Given the description of an element on the screen output the (x, y) to click on. 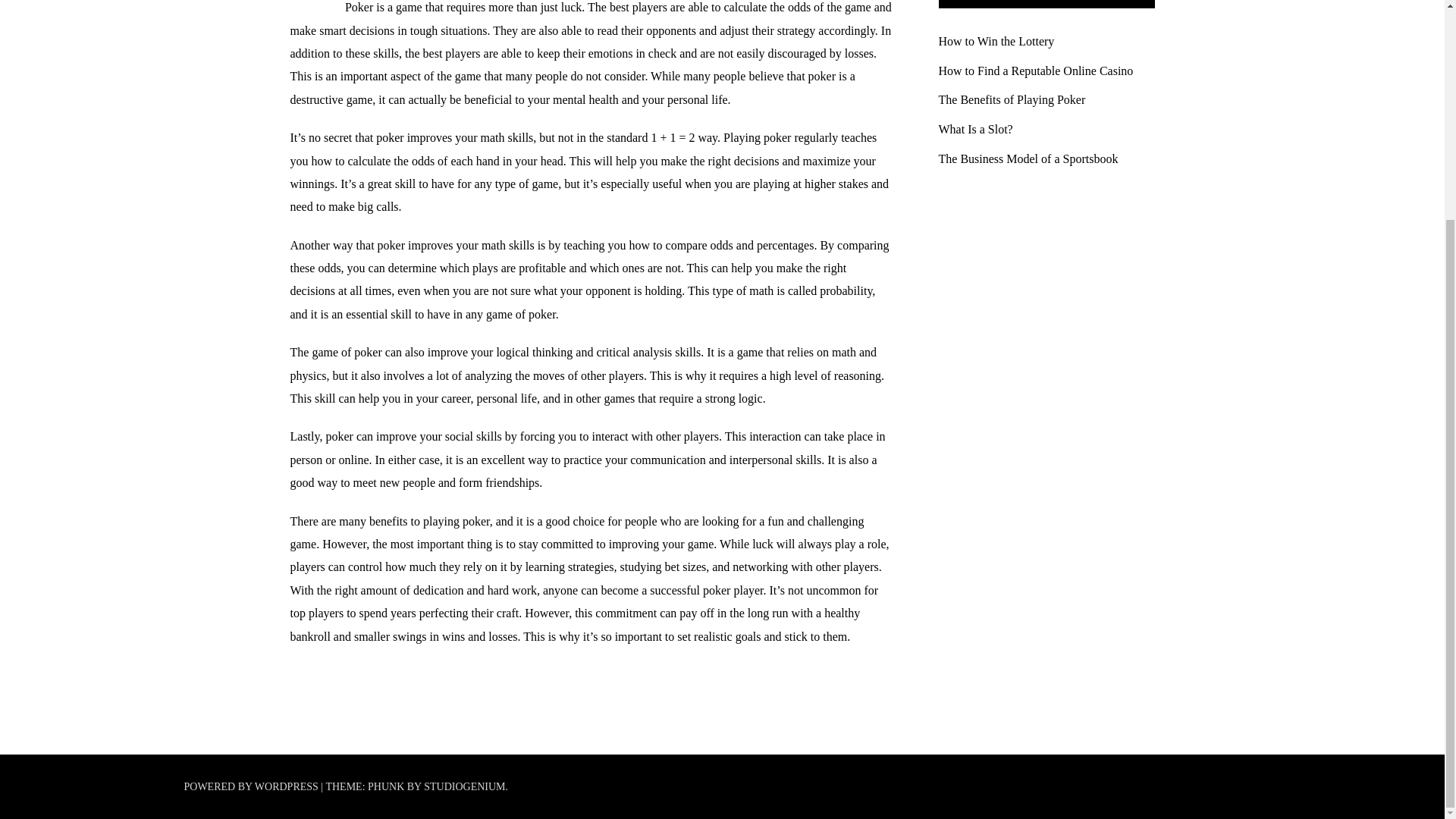
The Benefits of Playing Poker (1012, 99)
The Business Model of a Sportsbook (1028, 158)
POWERED BY WORDPRESS (251, 786)
How to Find a Reputable Online Casino (1036, 70)
What Is a Slot? (976, 128)
STUDIOGENIUM (464, 786)
How to Win the Lottery (996, 41)
